Given the description of an element on the screen output the (x, y) to click on. 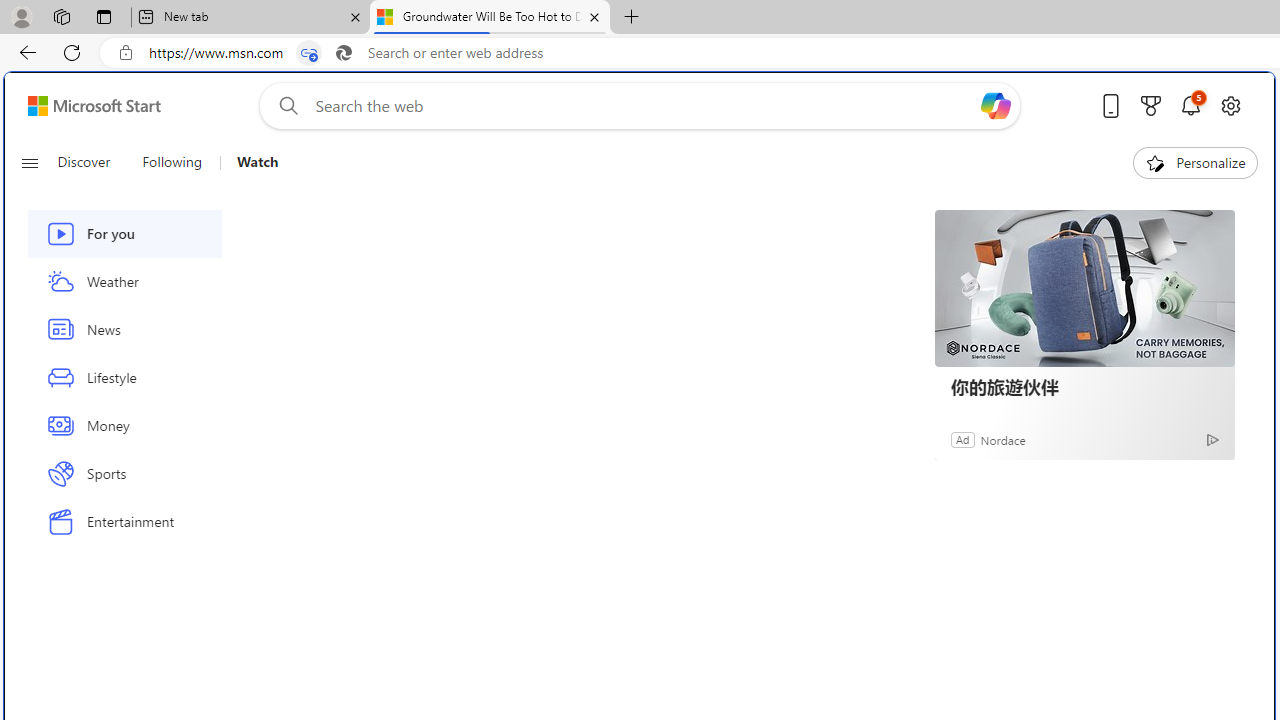
Open Copilot (995, 105)
Ad Choice (1212, 439)
Microsoft Start (94, 105)
Web search (283, 105)
New Tab (632, 17)
To get missing image descriptions, open the context menu. (1155, 162)
Following (172, 162)
Microsoft rewards (1151, 105)
Discover (91, 162)
Tab actions menu (104, 16)
Open Copilot (995, 105)
Enter your search term (644, 106)
Skip to footer (82, 105)
Workspaces (61, 16)
